Given the description of an element on the screen output the (x, y) to click on. 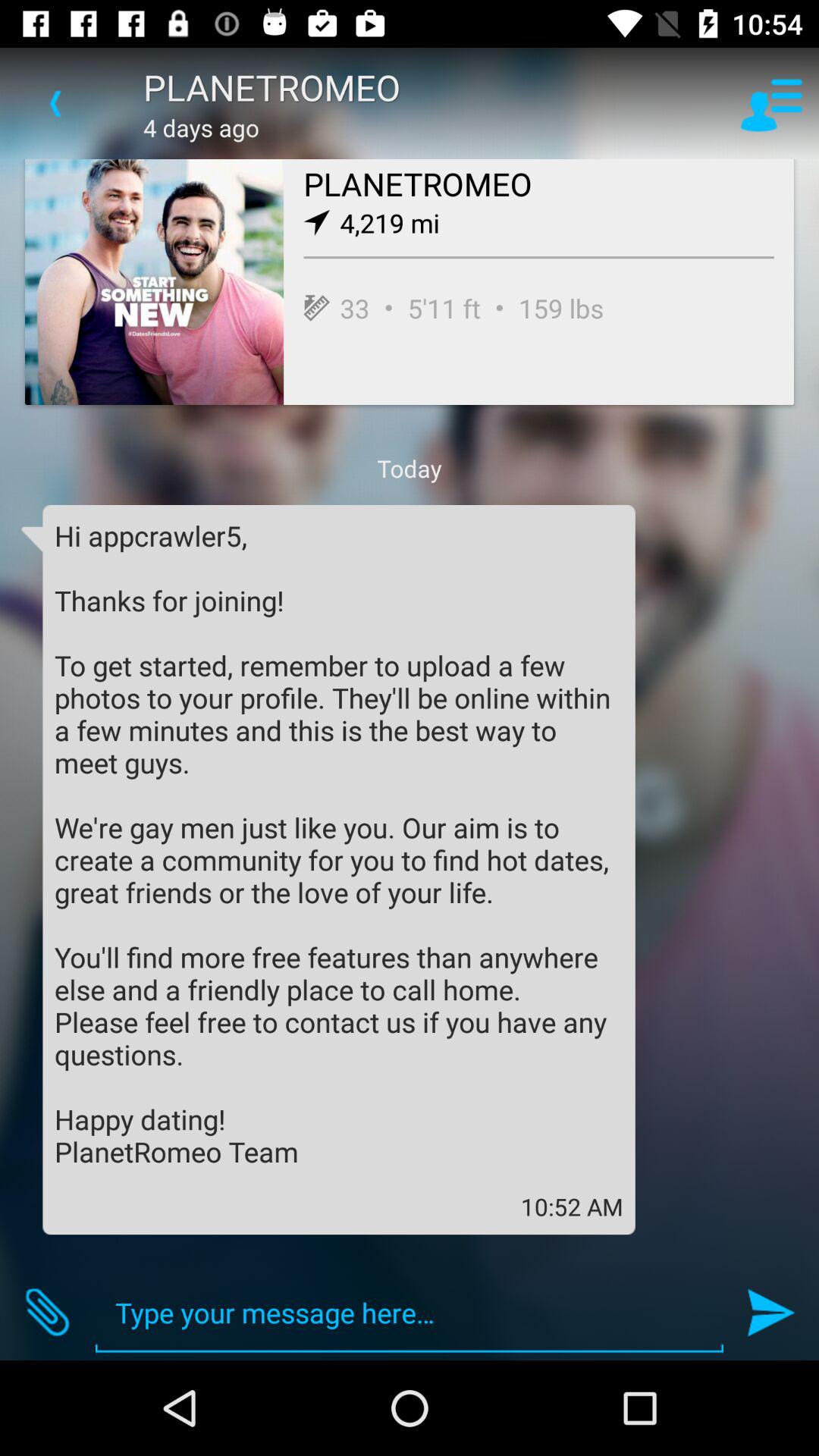
turn on item at the bottom left corner (47, 1312)
